Given the description of an element on the screen output the (x, y) to click on. 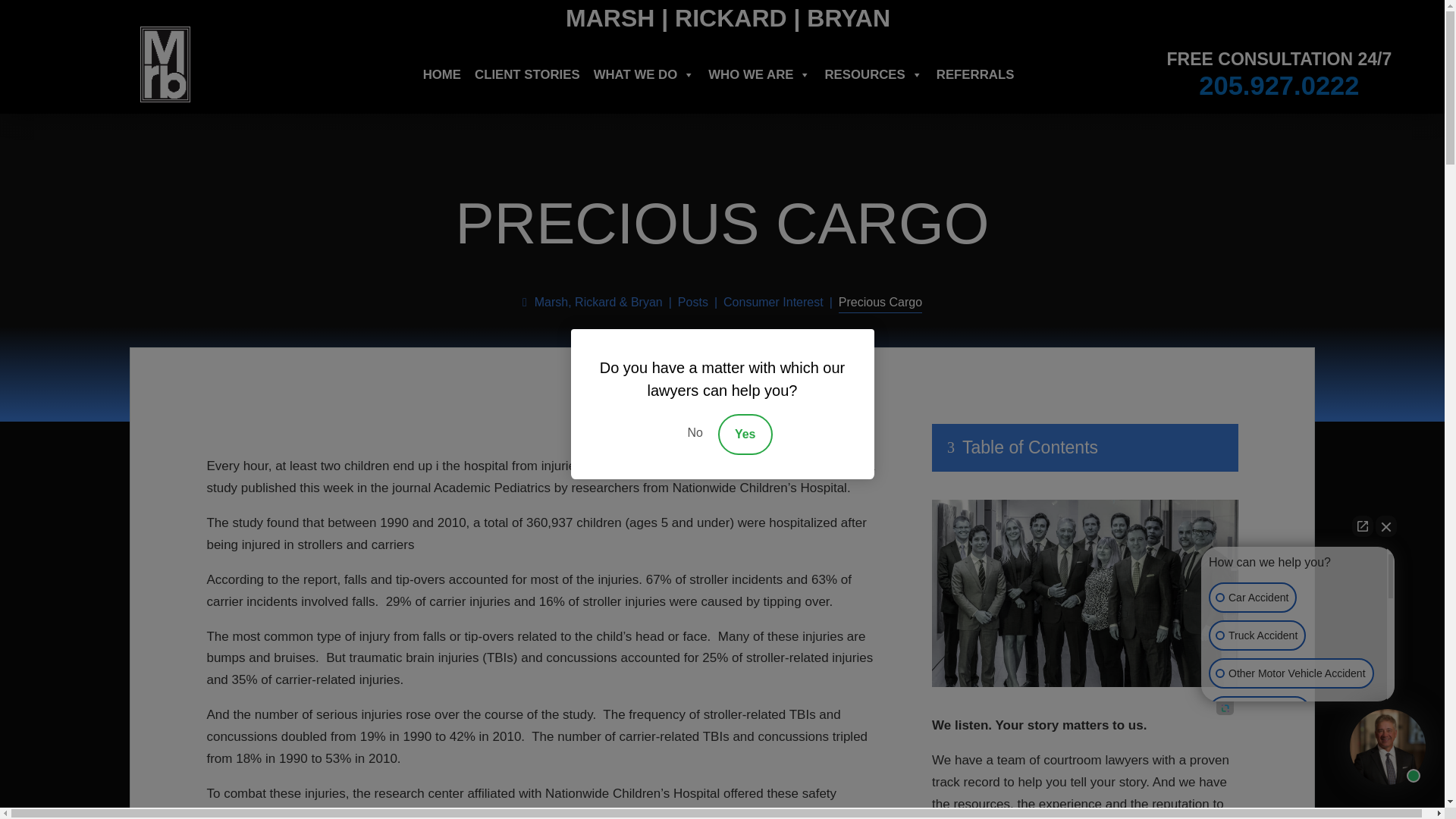
MRB Trial Attorneys in Alabama wrongful death (1084, 593)
HOME (442, 74)
CLIENT STORIES (527, 74)
WHAT WE DO (644, 74)
